Given the description of an element on the screen output the (x, y) to click on. 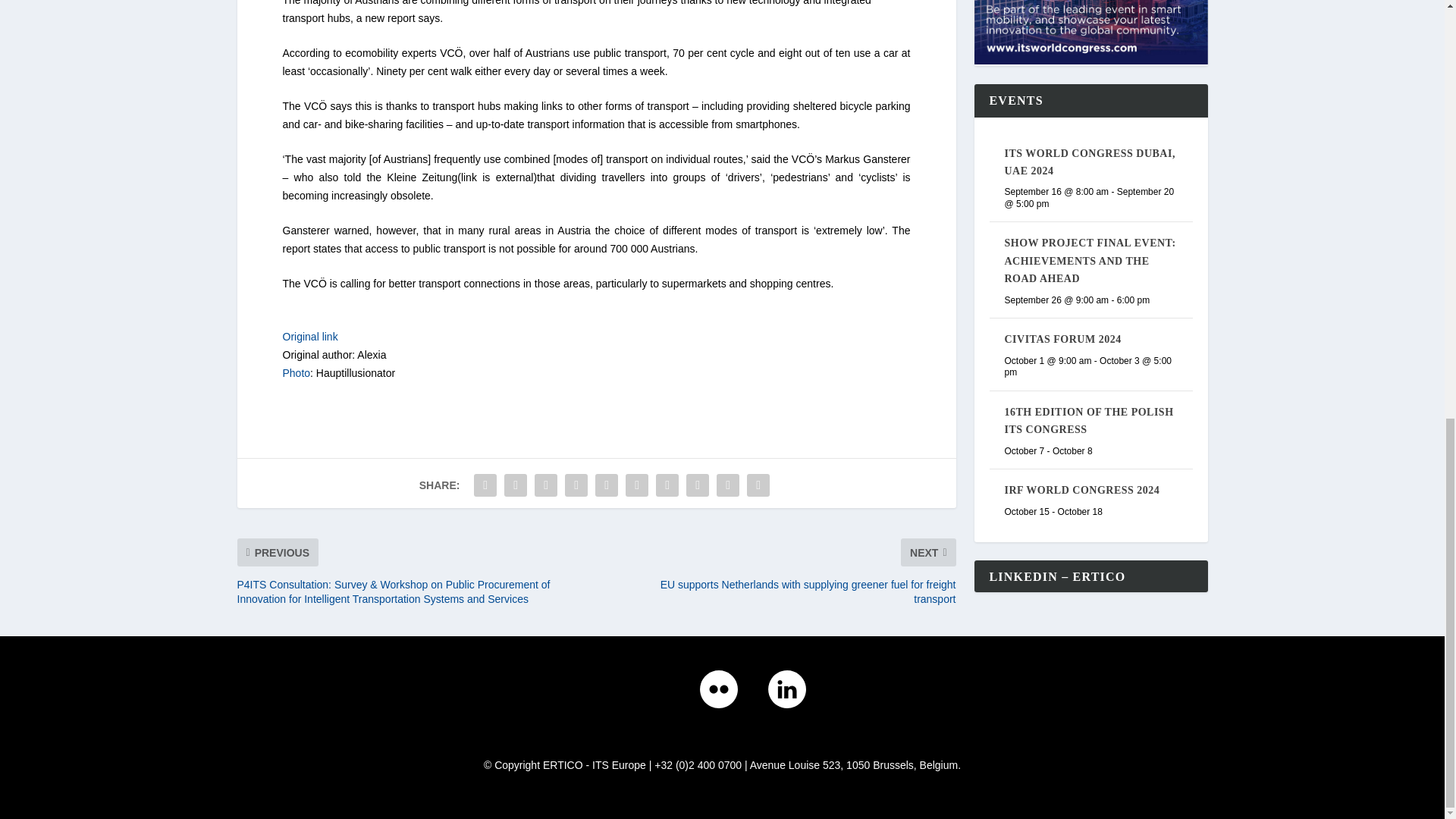
Original link (309, 336)
Photo (296, 372)
CIVITAS FORUM 2024 (1062, 21)
